Given the description of an element on the screen output the (x, y) to click on. 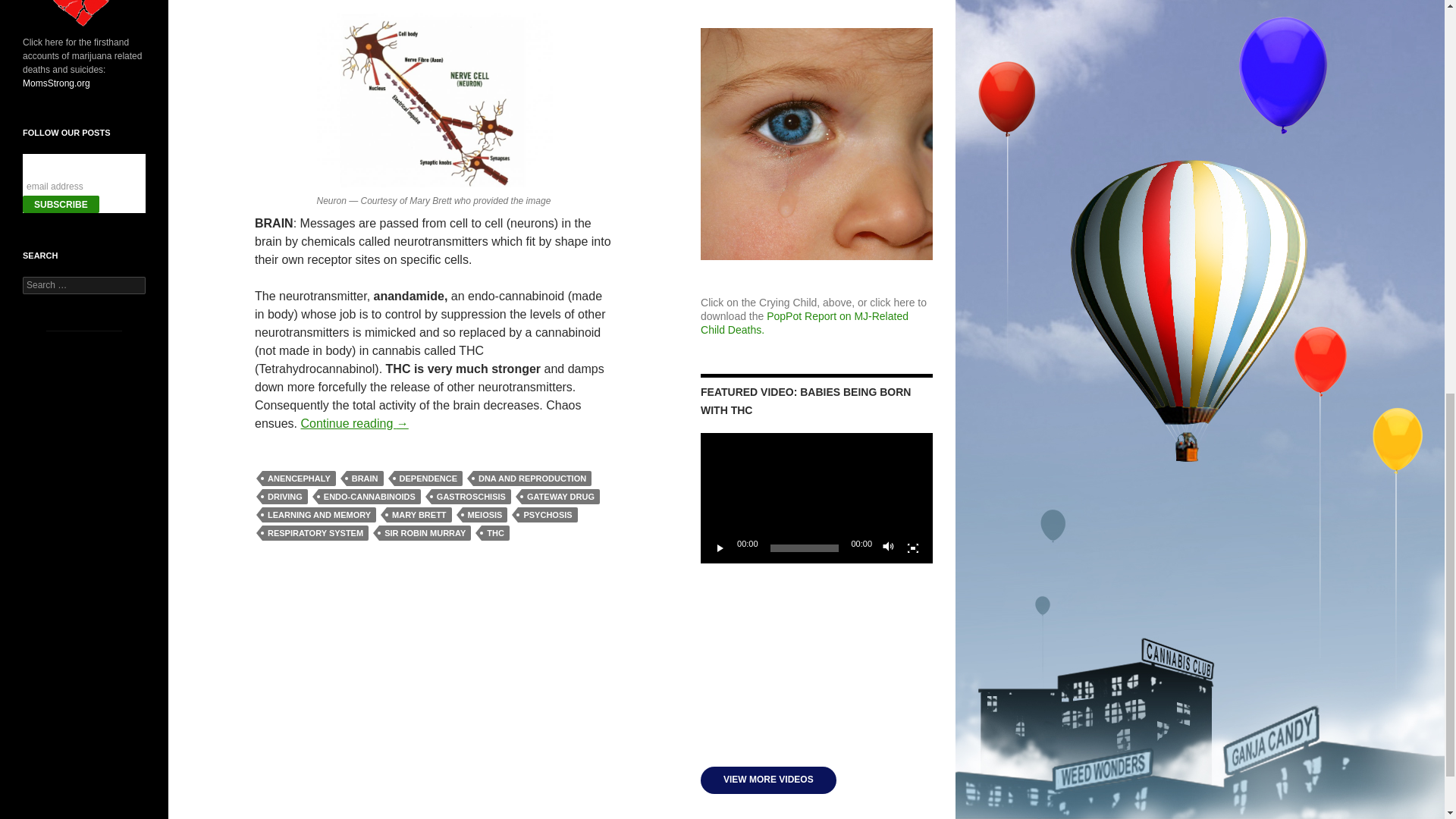
SIR ROBIN MURRAY (424, 532)
LEARNING AND MEMORY (318, 514)
DNA AND REPRODUCTION (532, 478)
GASTROSCHISIS (470, 496)
Marijuana-Impaired Driving:  What the Data Shows (816, 664)
ANENCEPHALY (299, 478)
PSYCHOSIS (547, 514)
MARY BRETT (419, 514)
DRIVING (284, 496)
GATEWAY DRUG (560, 496)
Play (720, 548)
Fullscreen (912, 548)
DEPENDENCE (428, 478)
Subscribe (61, 203)
ENDO-CANNABINOIDS (369, 496)
